Given the description of an element on the screen output the (x, y) to click on. 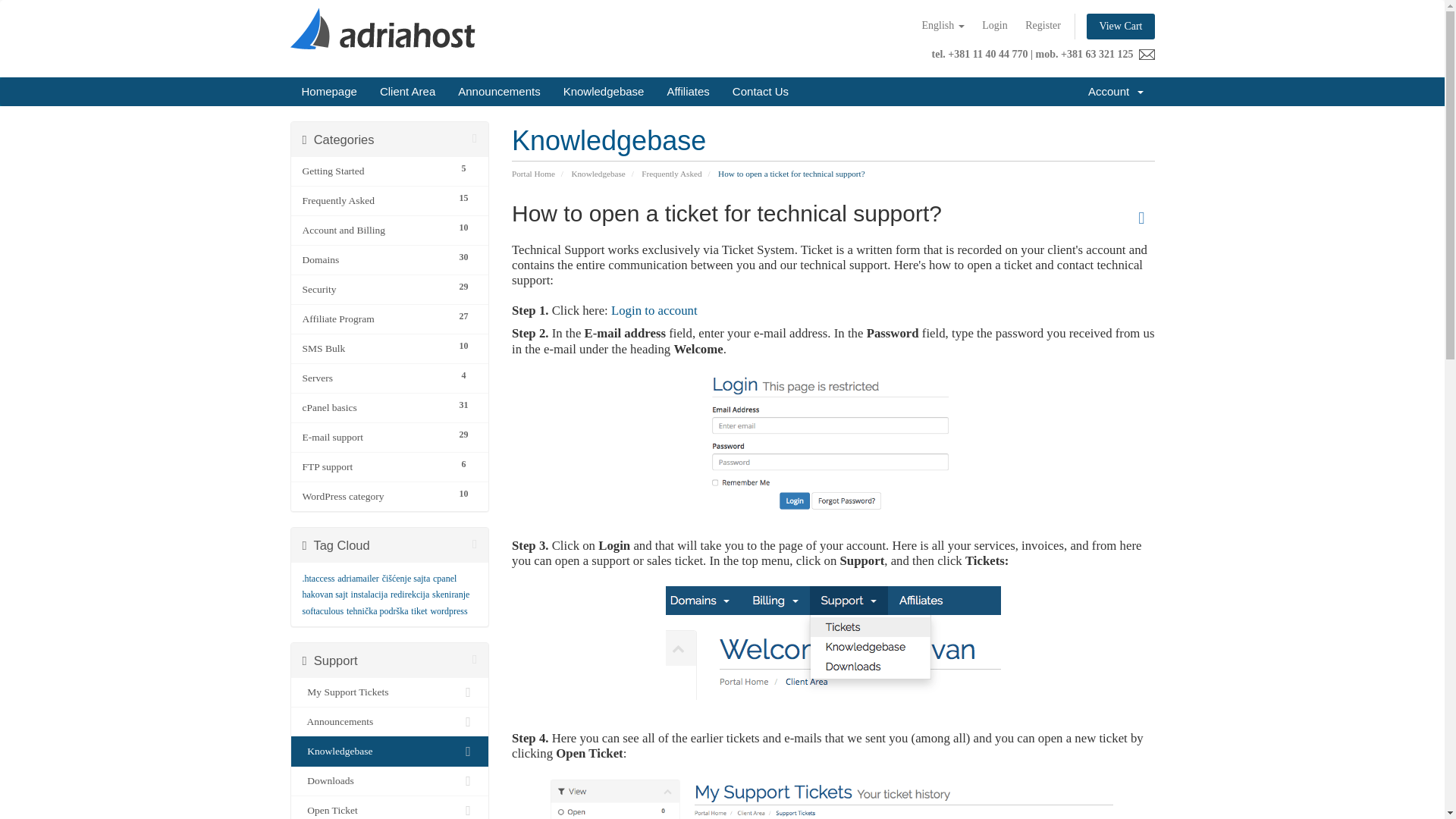
View Cart (390, 289)
Login (1120, 26)
Announcements (390, 318)
English (994, 25)
Account   (498, 91)
Knowledgebase (390, 467)
Register (390, 408)
Knowledgebase (943, 25)
Homepage (1115, 91)
